Given the description of an element on the screen output the (x, y) to click on. 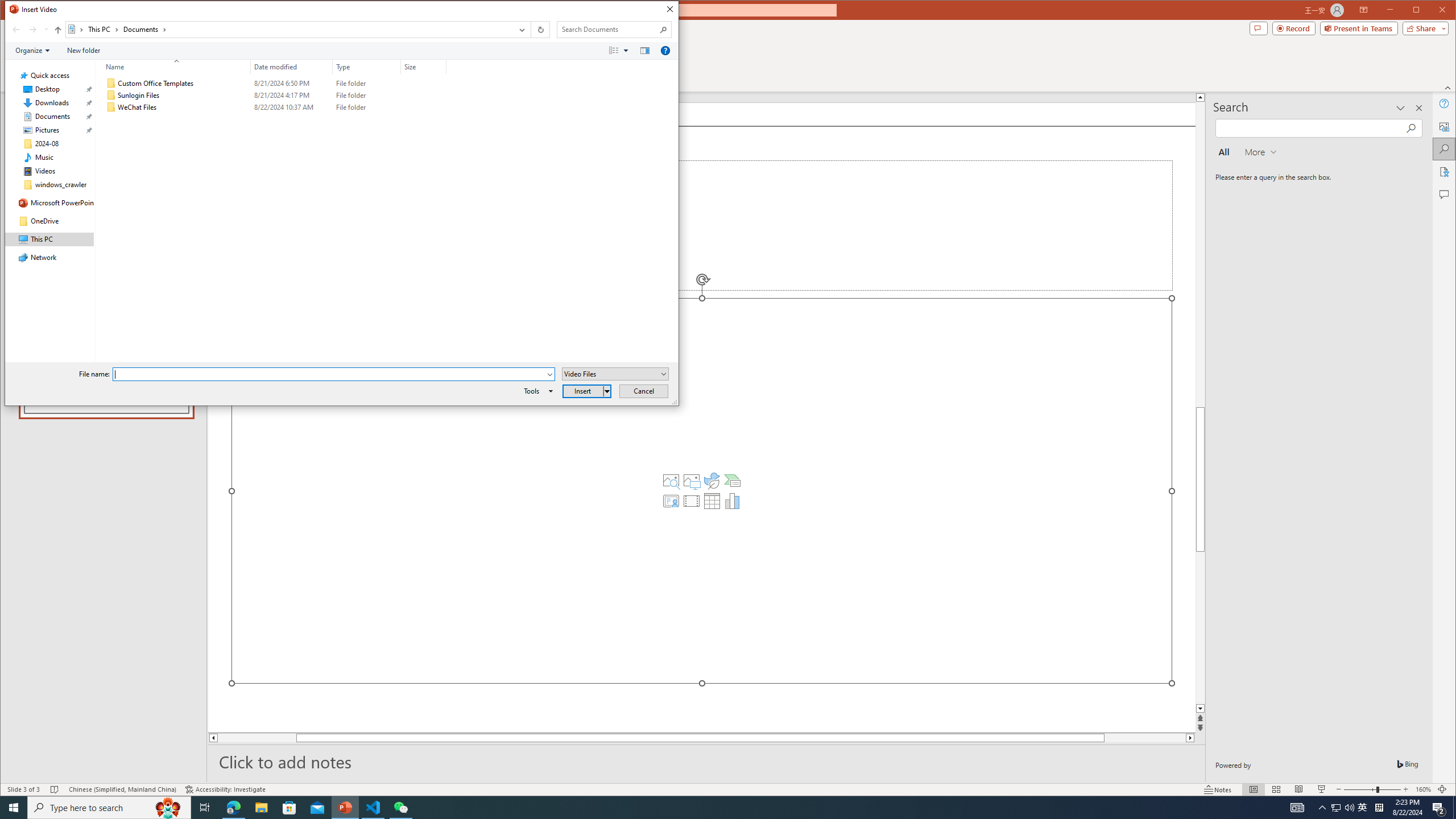
Insert Chart (732, 501)
Views (621, 50)
File name: (329, 374)
Navigation buttons (28, 29)
WeChat Files (273, 107)
Forward (Alt + Right Arrow) (33, 29)
Stock Images (670, 480)
